Given the description of an element on the screen output the (x, y) to click on. 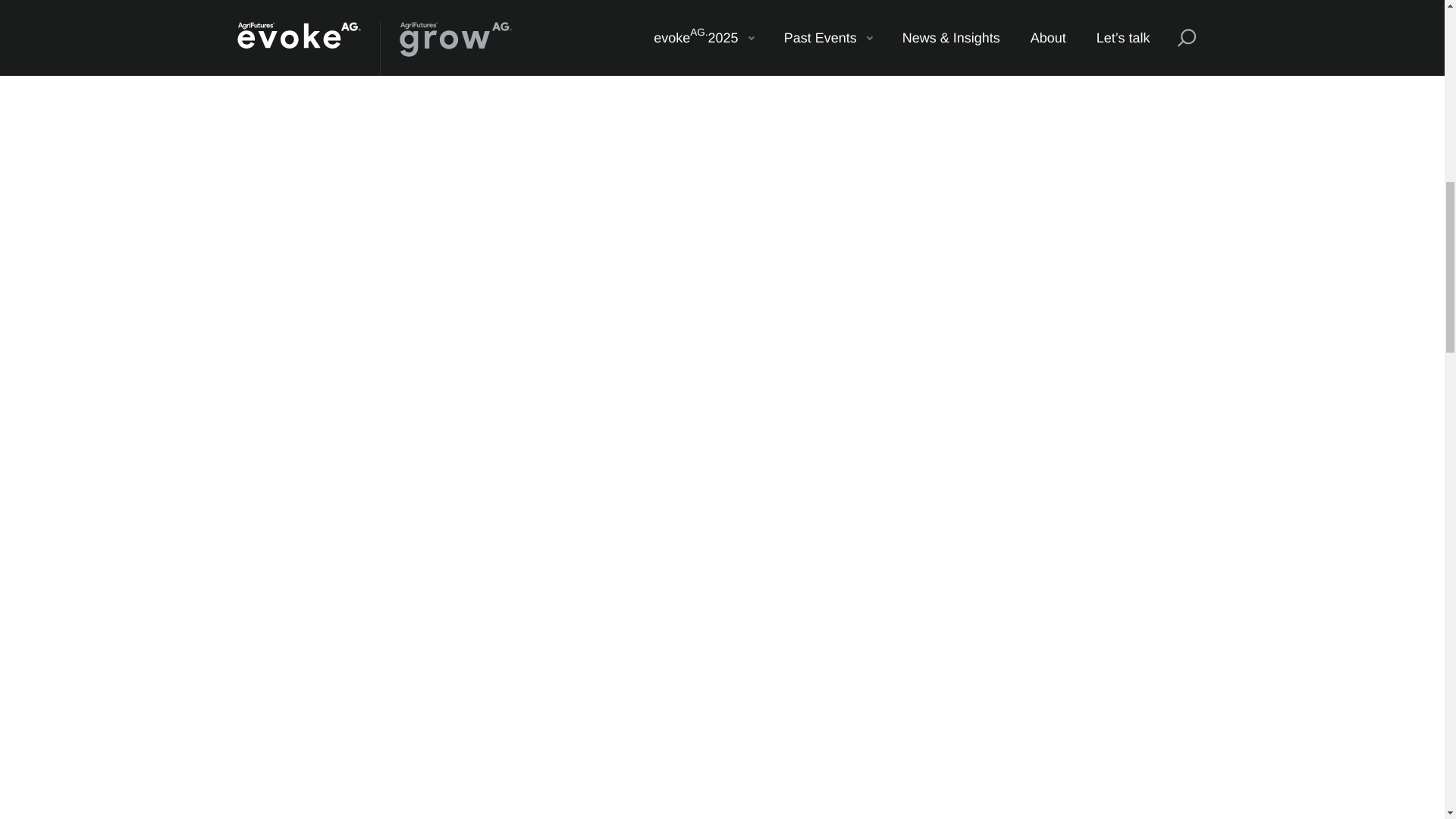
Accept and close (1139, 64)
Cookie Policy (359, 97)
